Given the description of an element on the screen output the (x, y) to click on. 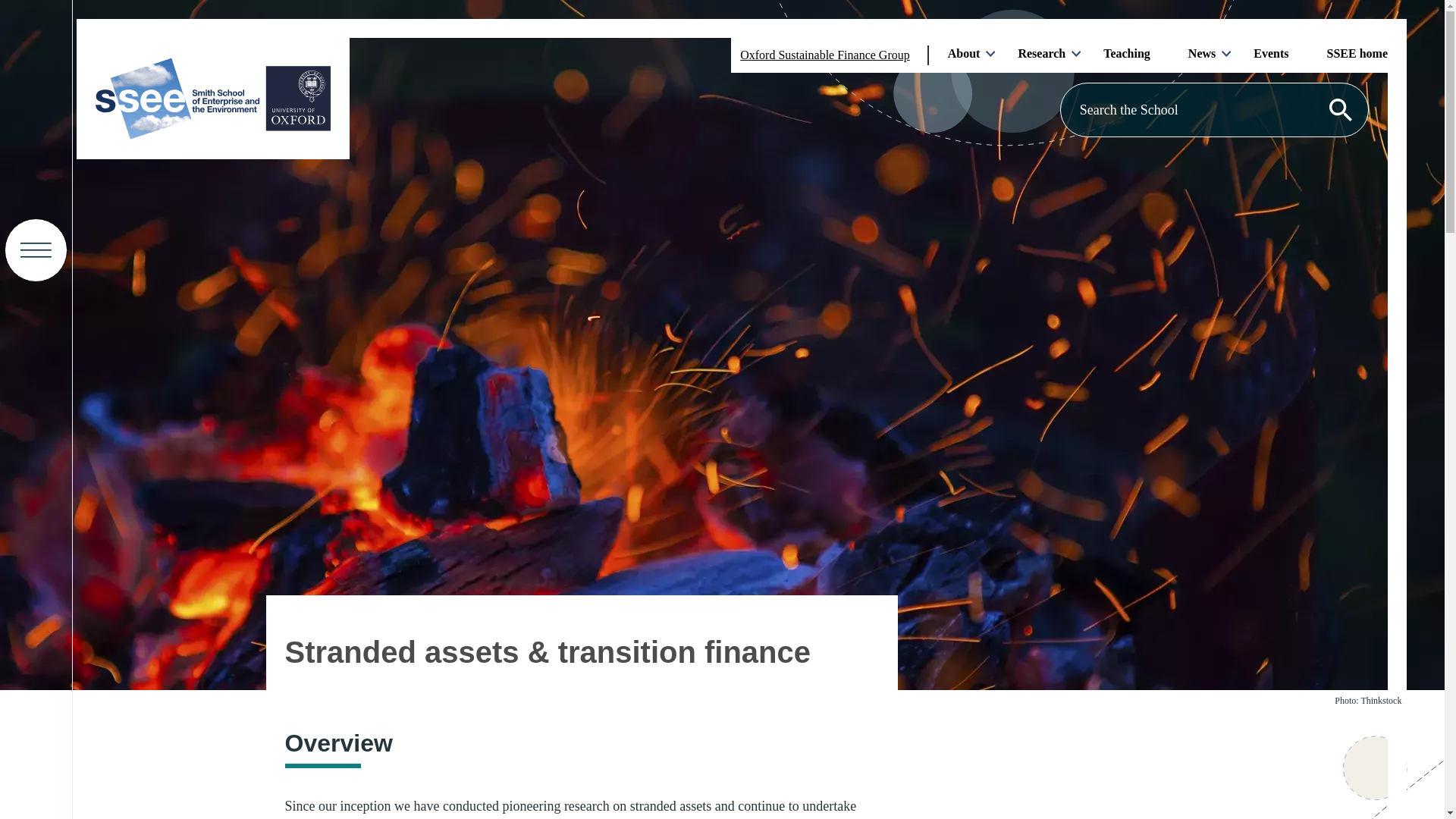
SSEE home (1356, 52)
Menu expand link (36, 249)
Search (1339, 109)
Search (1339, 109)
Teaching (1126, 52)
Events (1270, 52)
Enter the terms you wish to search for. (1213, 109)
Oxford Sustainable Finance Group (824, 54)
